Given the description of an element on the screen output the (x, y) to click on. 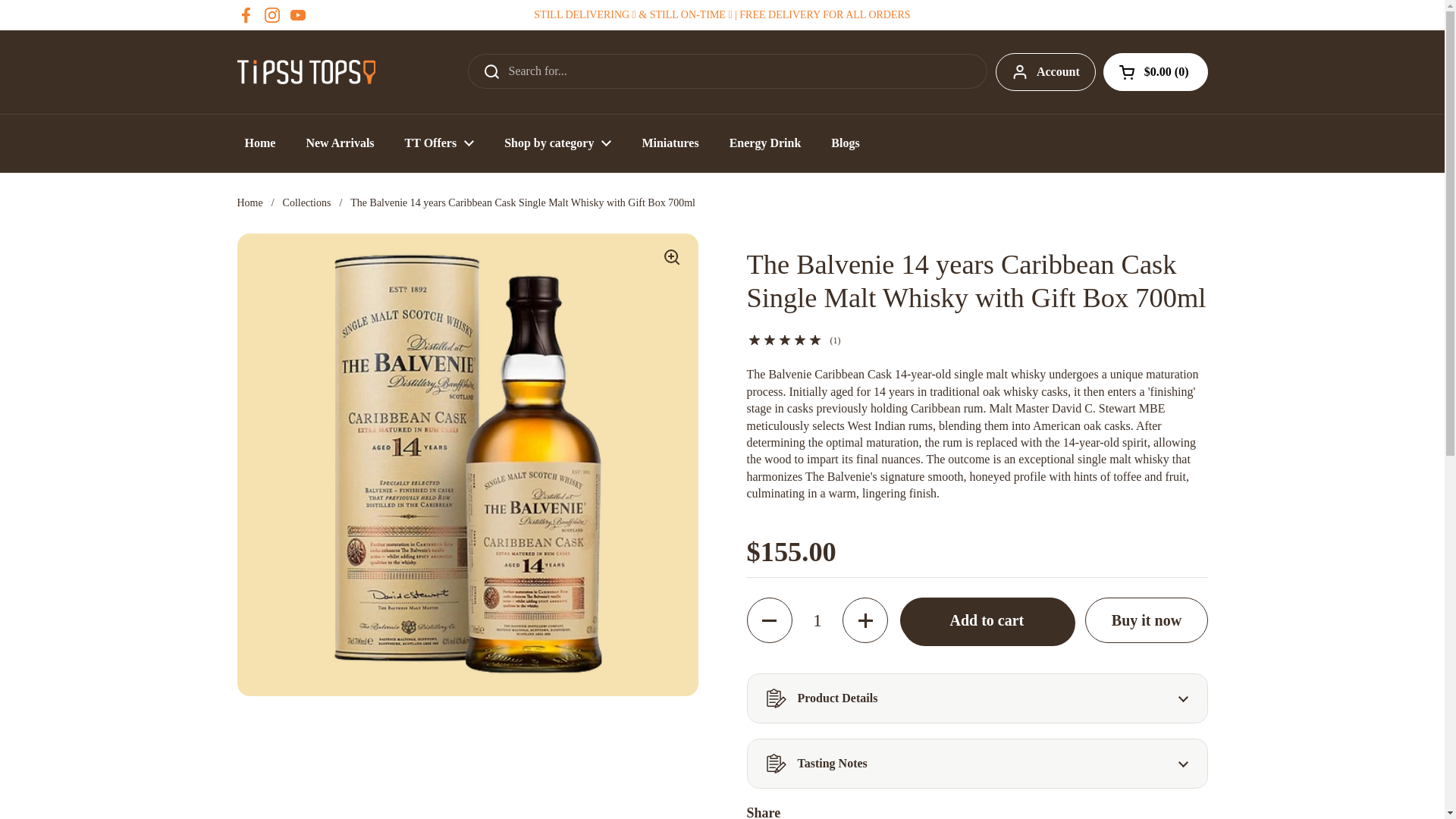
TipsyTopsy (305, 71)
New Arrivals (338, 143)
Instagram (271, 14)
Open cart (1155, 71)
Facebook (244, 14)
Miniatures (669, 143)
Energy Drink (765, 143)
YouTube (296, 14)
Shop by category (557, 143)
Home (258, 143)
Account (1045, 71)
1 (817, 619)
TT Offers (439, 143)
Blogs (845, 143)
